Given the description of an element on the screen output the (x, y) to click on. 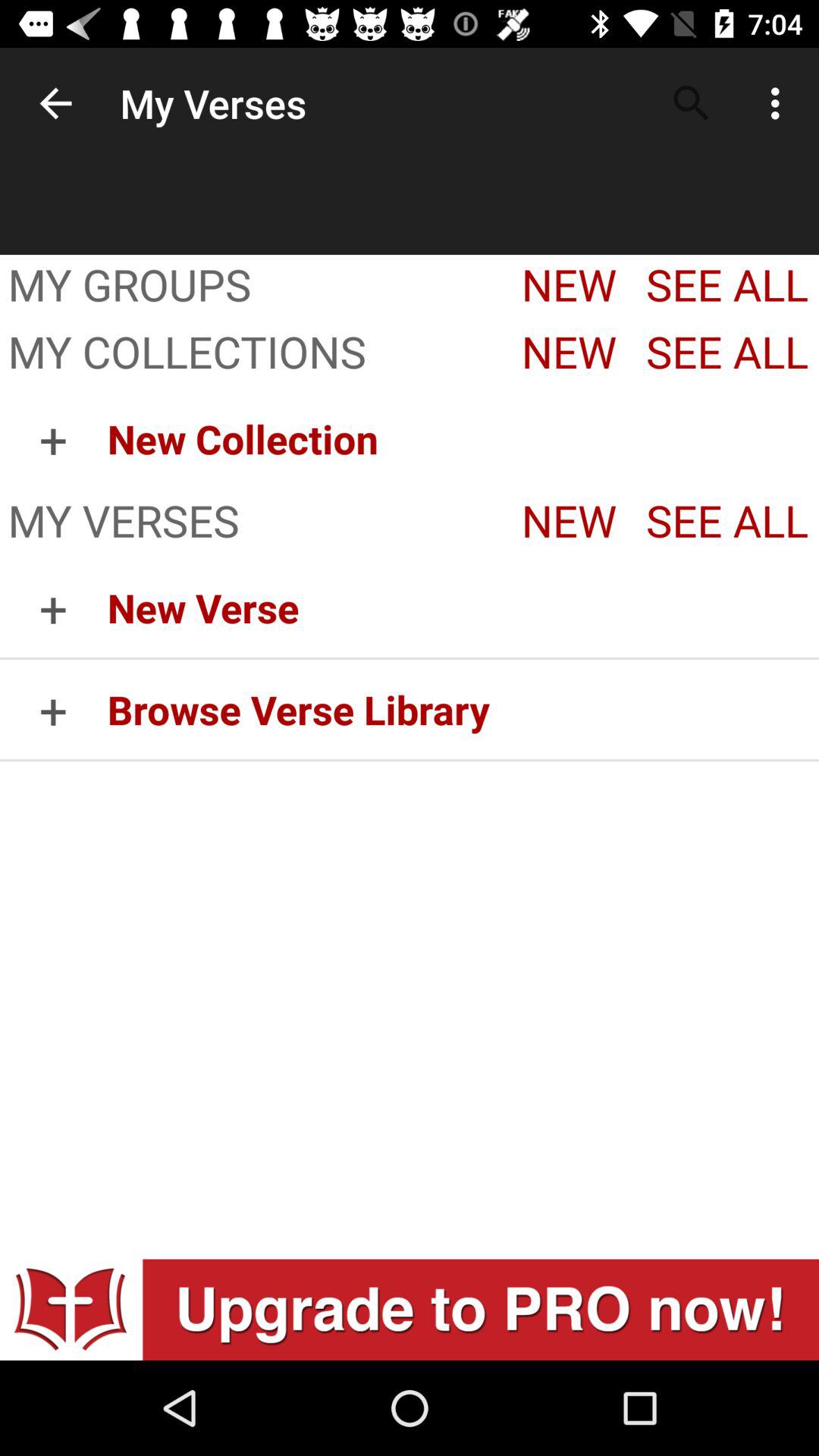
turn on item to the right of + icon (463, 438)
